Given the description of an element on the screen output the (x, y) to click on. 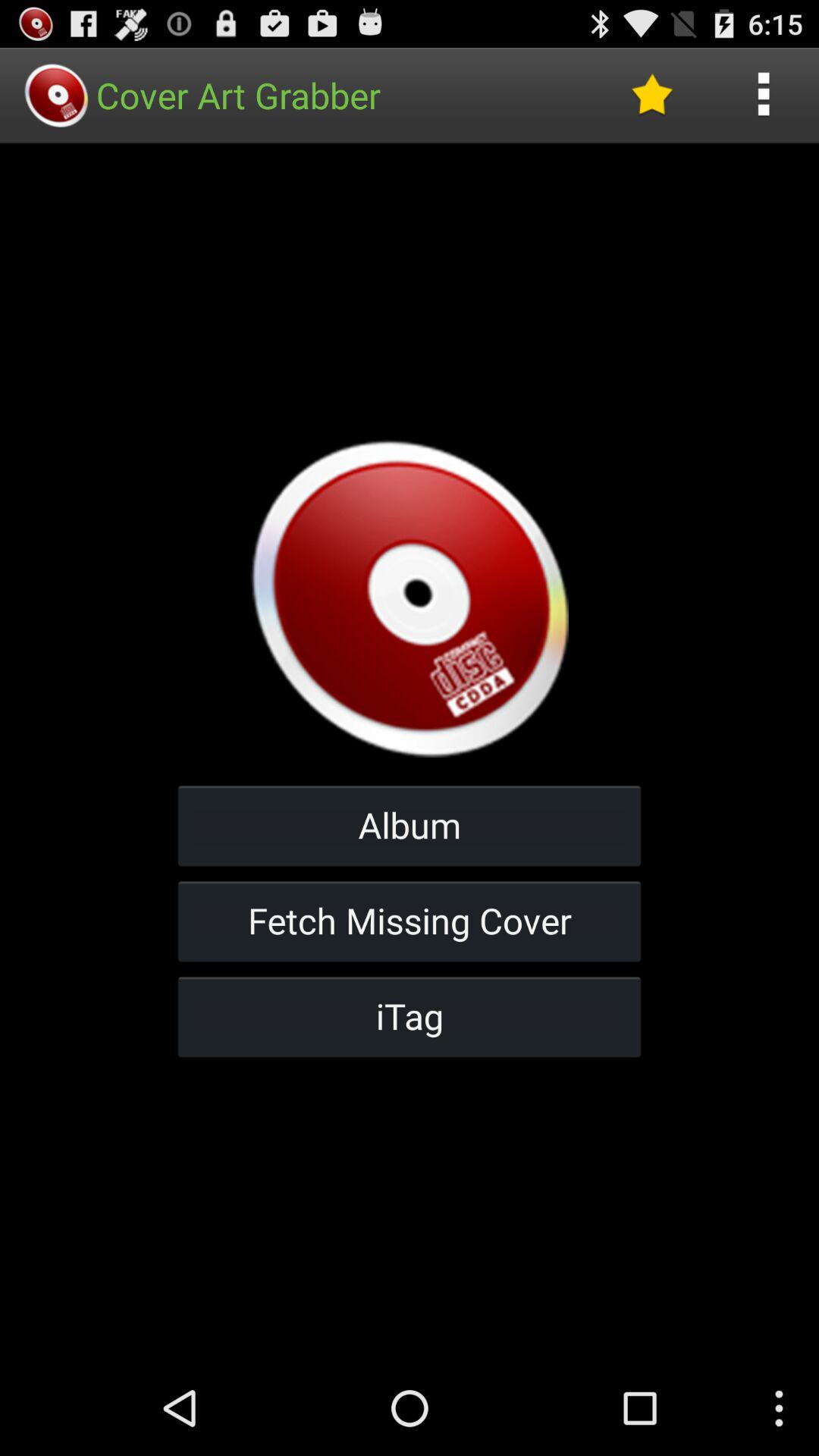
swipe to fetch missing cover button (409, 920)
